Given the description of an element on the screen output the (x, y) to click on. 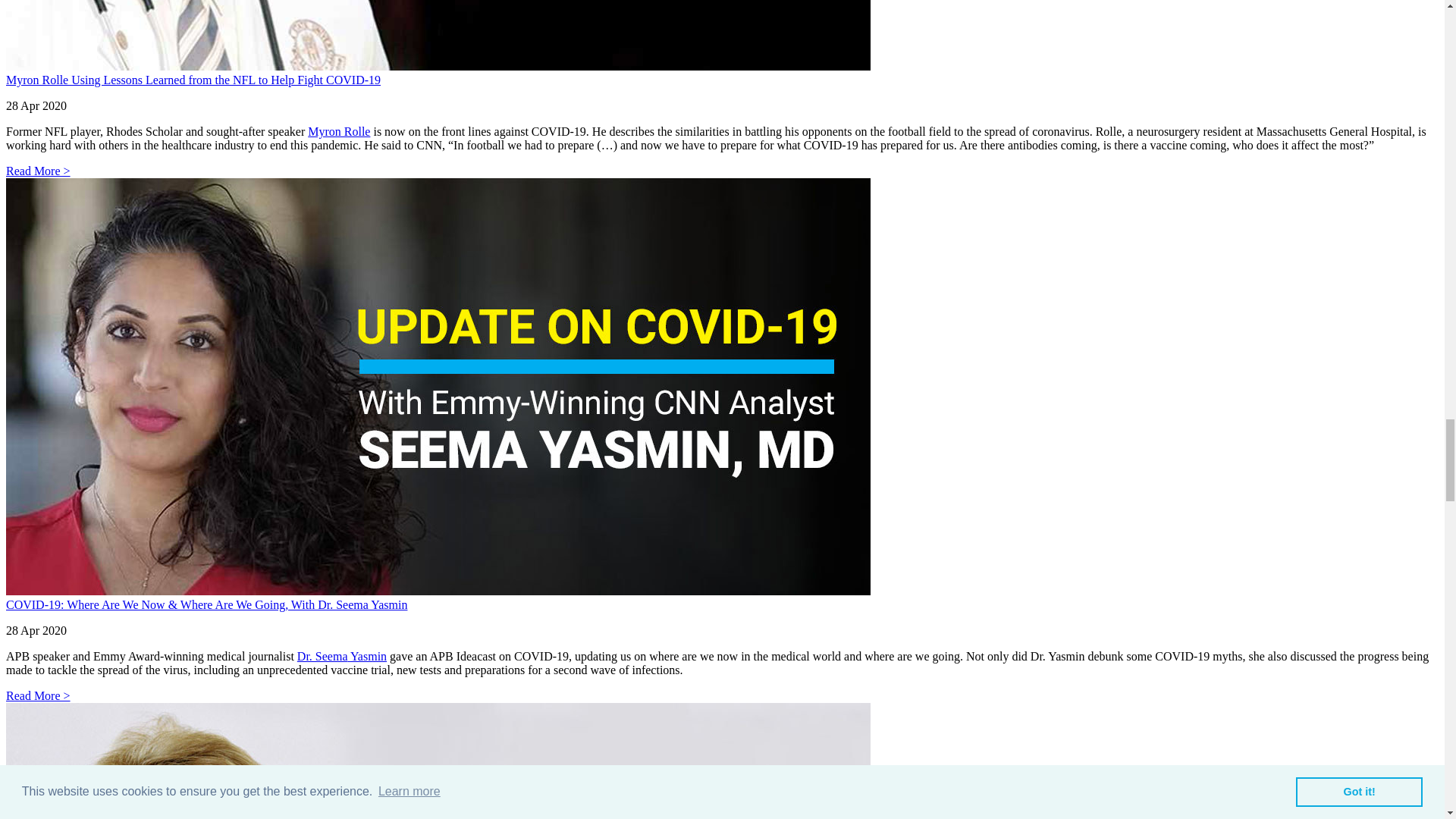
Myron Rolle (338, 131)
Myron Rolle (338, 131)
Seema Yasmin, MD (342, 656)
